Given the description of an element on the screen output the (x, y) to click on. 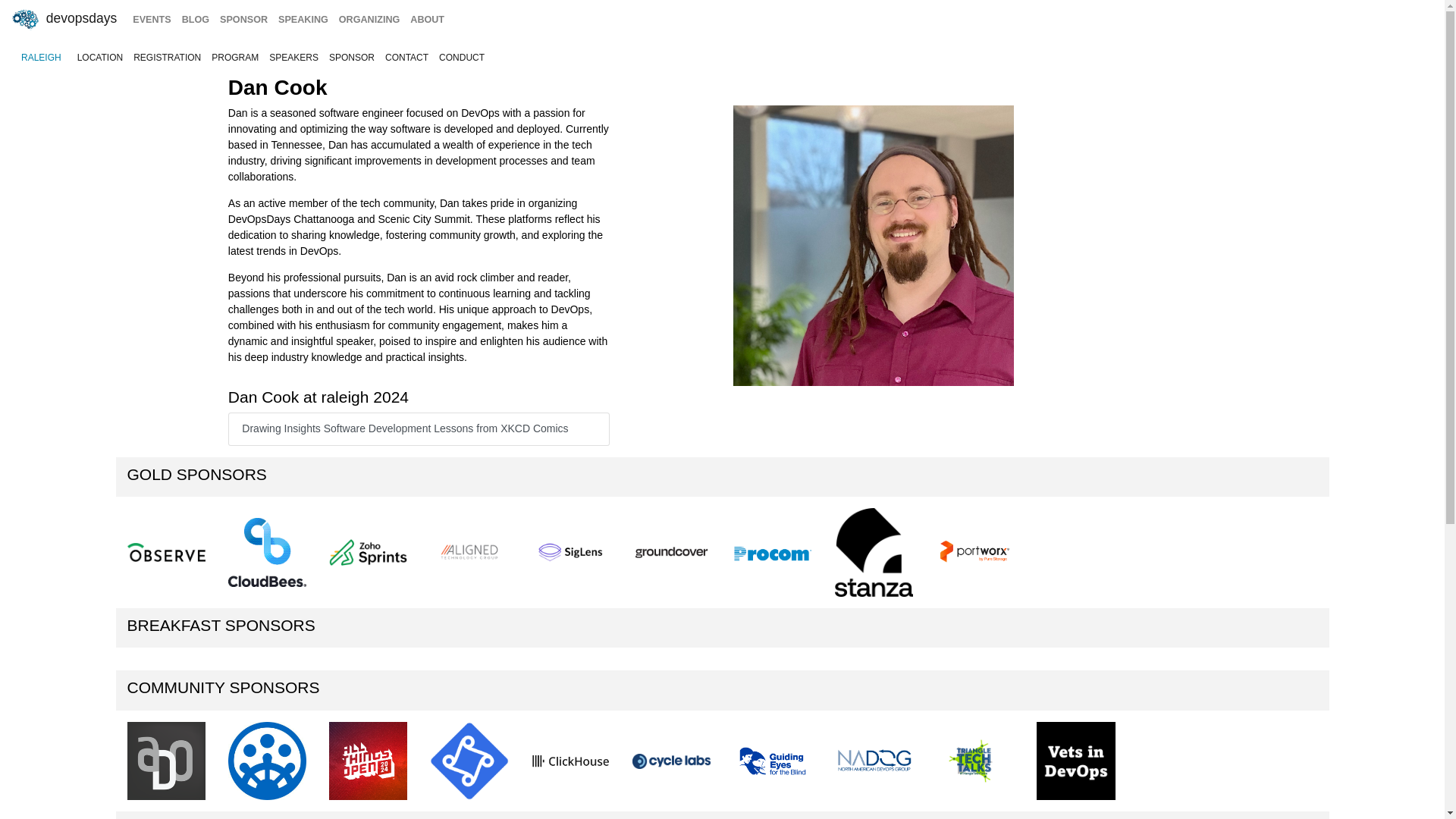
portworx (974, 552)
triangle-tech-talks (974, 760)
Guiding Eyes For The Blind (771, 761)
REGISTRATION (167, 57)
Groundcover (670, 552)
kubehuddle (266, 760)
SPEAKING (303, 19)
PROGRAM (234, 57)
RALEIGH (40, 57)
zohosprints (368, 551)
Observe Inc (166, 551)
Aligned Technology Group (468, 552)
BLOG (195, 19)
LearnK8s (468, 760)
Cycle Labs (670, 760)
